Given the description of an element on the screen output the (x, y) to click on. 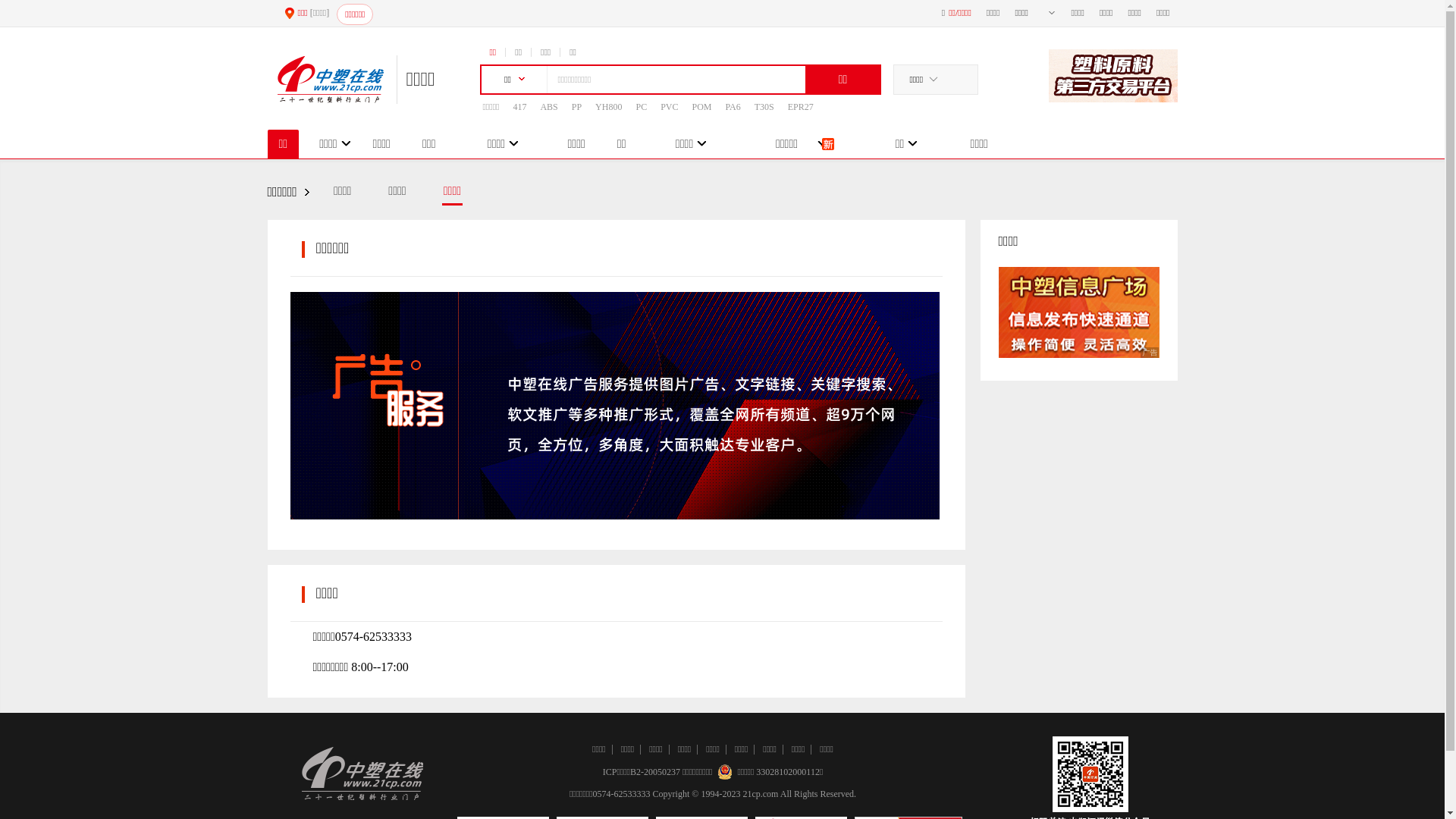
PC Element type: text (640, 106)
T30S Element type: text (764, 106)
POM Element type: text (701, 106)
YH800 Element type: text (608, 106)
EPR27 Element type: text (800, 106)
ABS Element type: text (548, 106)
PA6 Element type: text (732, 106)
21cp.com Element type: text (760, 793)
PP Element type: text (576, 106)
PVC Element type: text (668, 106)
417 Element type: text (519, 106)
